Given the description of an element on the screen output the (x, y) to click on. 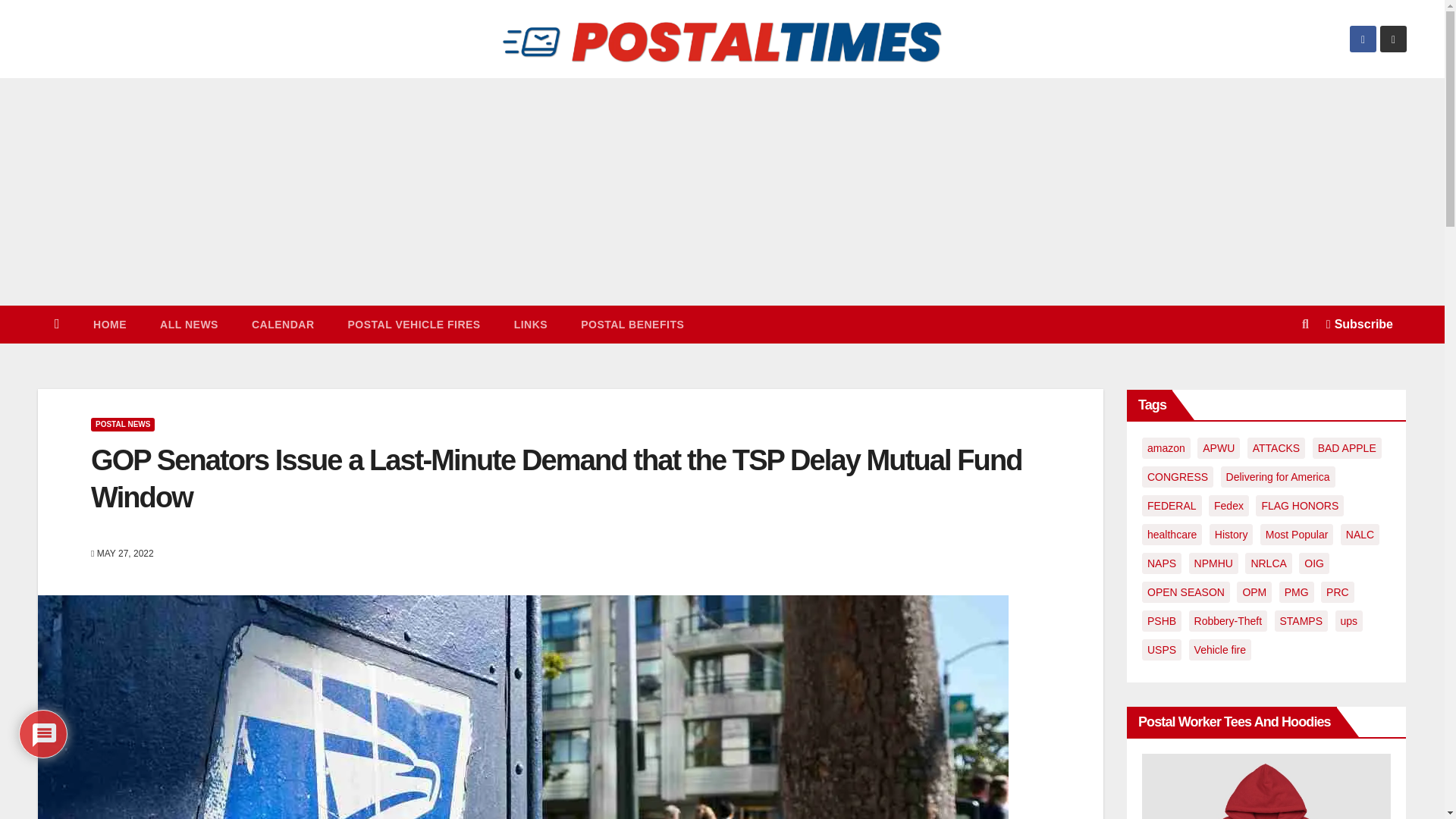
POSTAL NEWS (122, 424)
Subscribe (1359, 324)
Postal Vehicle Fires (413, 324)
All News (188, 324)
ALL NEWS (188, 324)
HOME (109, 324)
CALENDAR (282, 324)
Home (109, 324)
Home (57, 324)
POSTAL VEHICLE FIRES (413, 324)
POSTAL BENEFITS (632, 324)
Links (530, 324)
LINKS (530, 324)
Postal Benefits (632, 324)
